Given the description of an element on the screen output the (x, y) to click on. 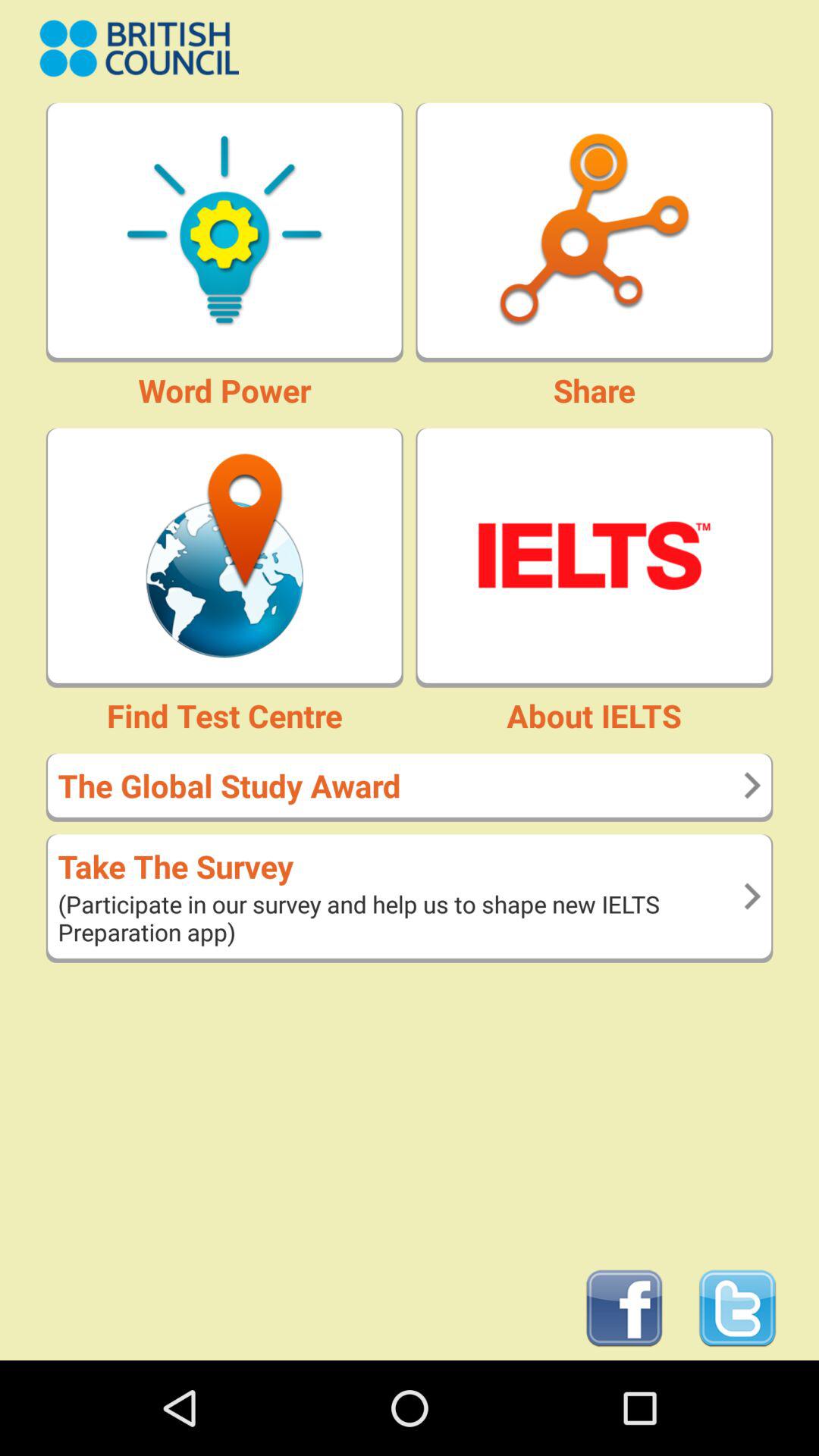
advertisement about ielts (594, 555)
